Given the description of an element on the screen output the (x, y) to click on. 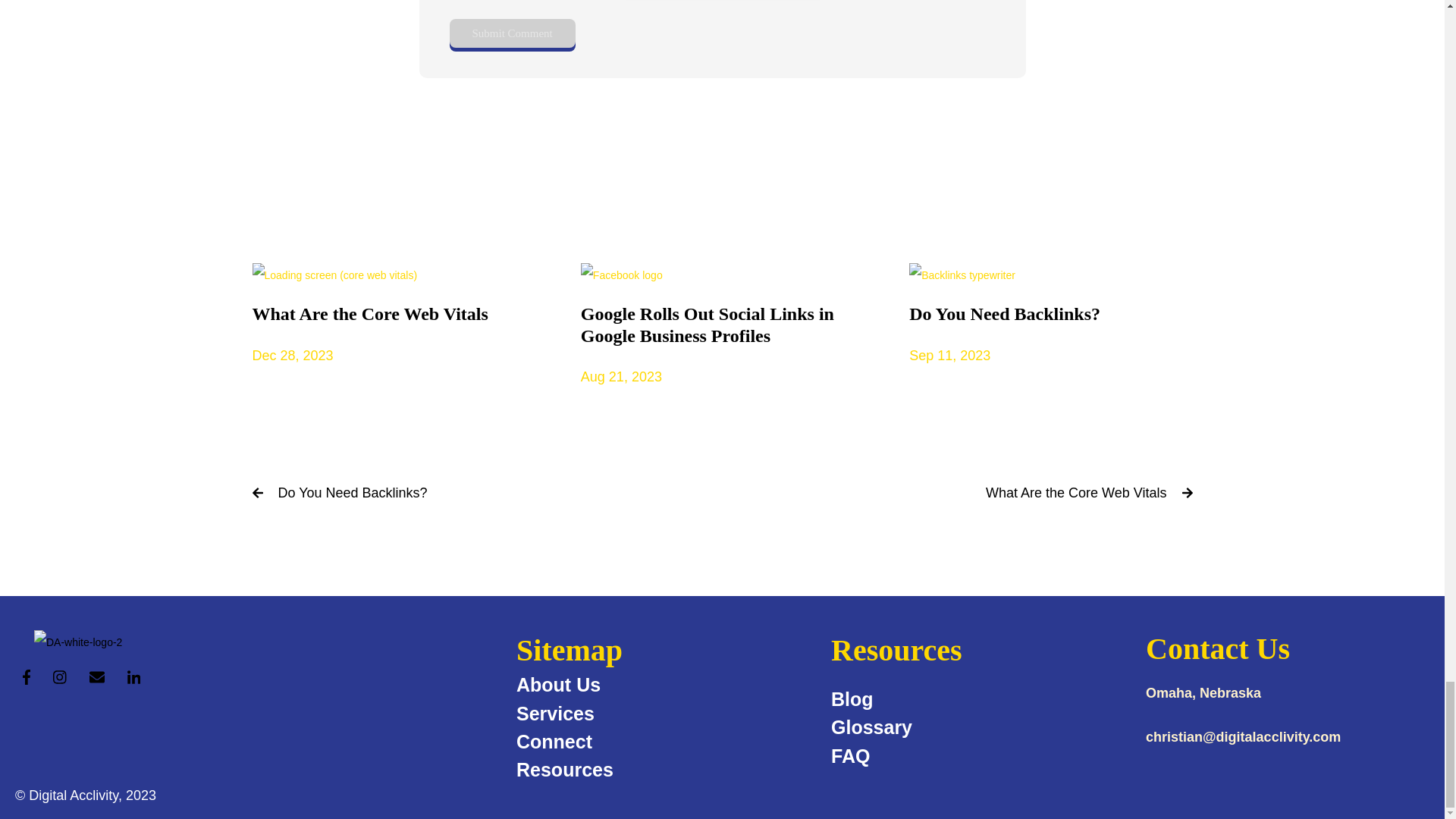
Submit Comment (511, 32)
Follow us on Instagram (59, 676)
Send Us an Email (96, 676)
DA-white-logo-2 (77, 641)
What Are the Core Web Vitals (392, 316)
Do You Need Backlinks? (1050, 316)
Submit Comment (1075, 492)
